Given the description of an element on the screen output the (x, y) to click on. 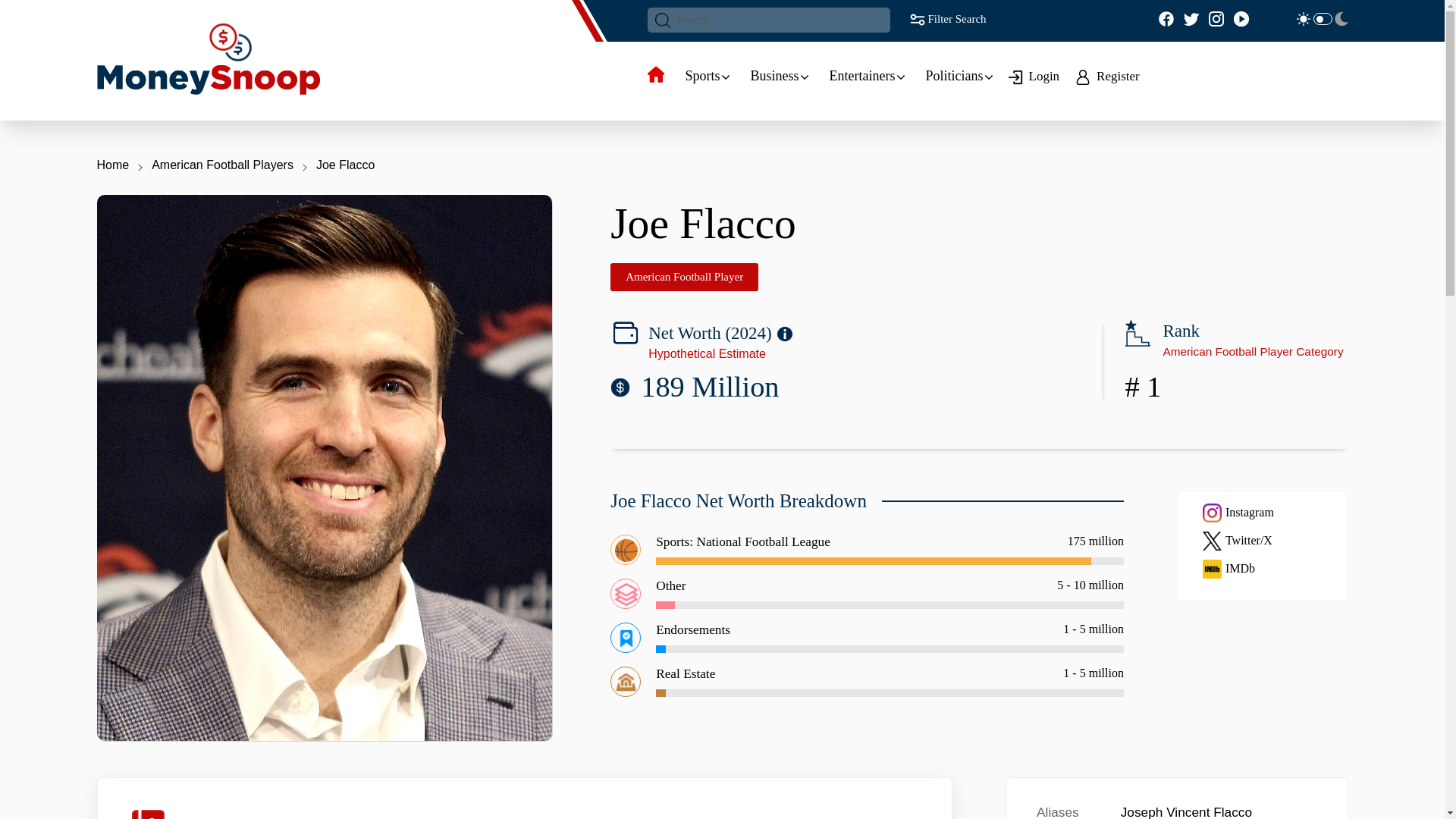
Business (775, 75)
Login (1036, 76)
View all American Football Players (1142, 386)
View all American Football Players (1251, 350)
Sports (702, 75)
Entertainers (862, 75)
Main profession (684, 276)
Register (1110, 76)
Filter Search (946, 18)
Politicians (953, 75)
